Given the description of an element on the screen output the (x, y) to click on. 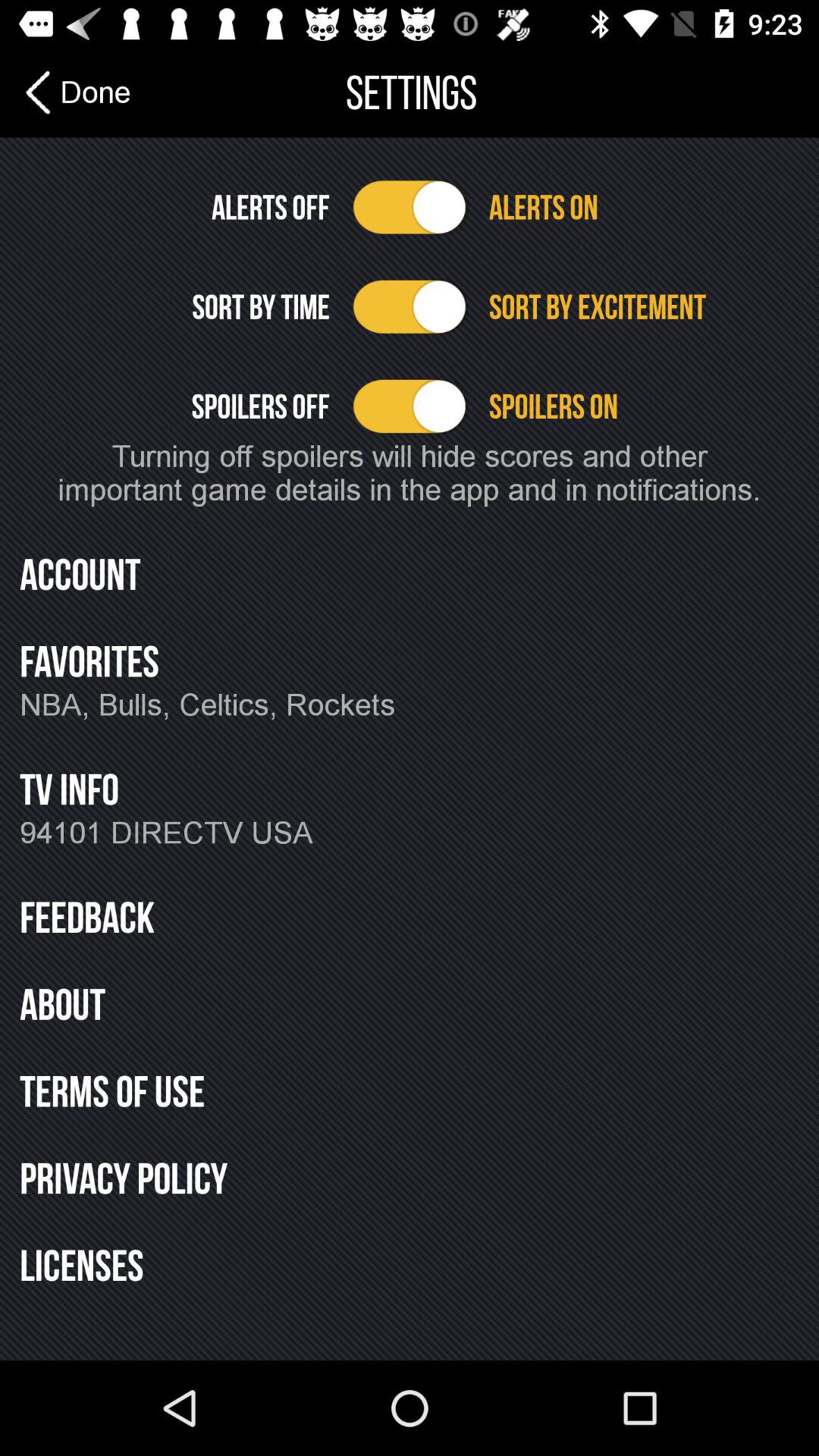
jump until alerts off item (174, 206)
